Given the description of an element on the screen output the (x, y) to click on. 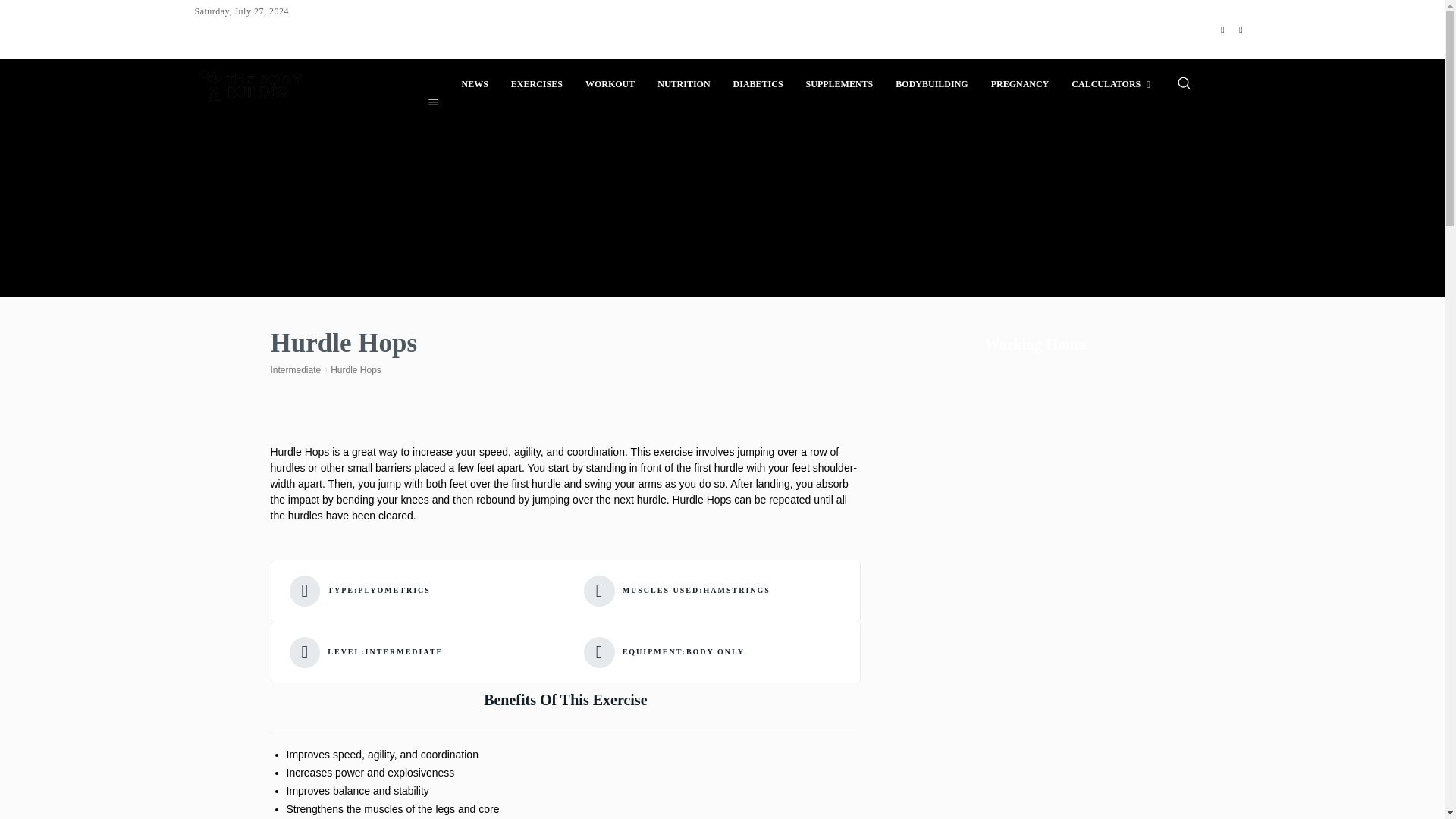
The Body Builder Logo (250, 83)
SUPPLEMENTS (839, 84)
CALCULATORS (1110, 84)
BODYBUILDING (930, 84)
DIABETICS (758, 84)
NUTRITION (683, 84)
Facebook (1221, 29)
Instagram (1240, 29)
NEWS (474, 84)
Intermediate (294, 369)
WORKOUT (609, 84)
PREGNANCY (1020, 84)
EXERCISES (536, 84)
View all posts in Intermediate (294, 369)
